Given the description of an element on the screen output the (x, y) to click on. 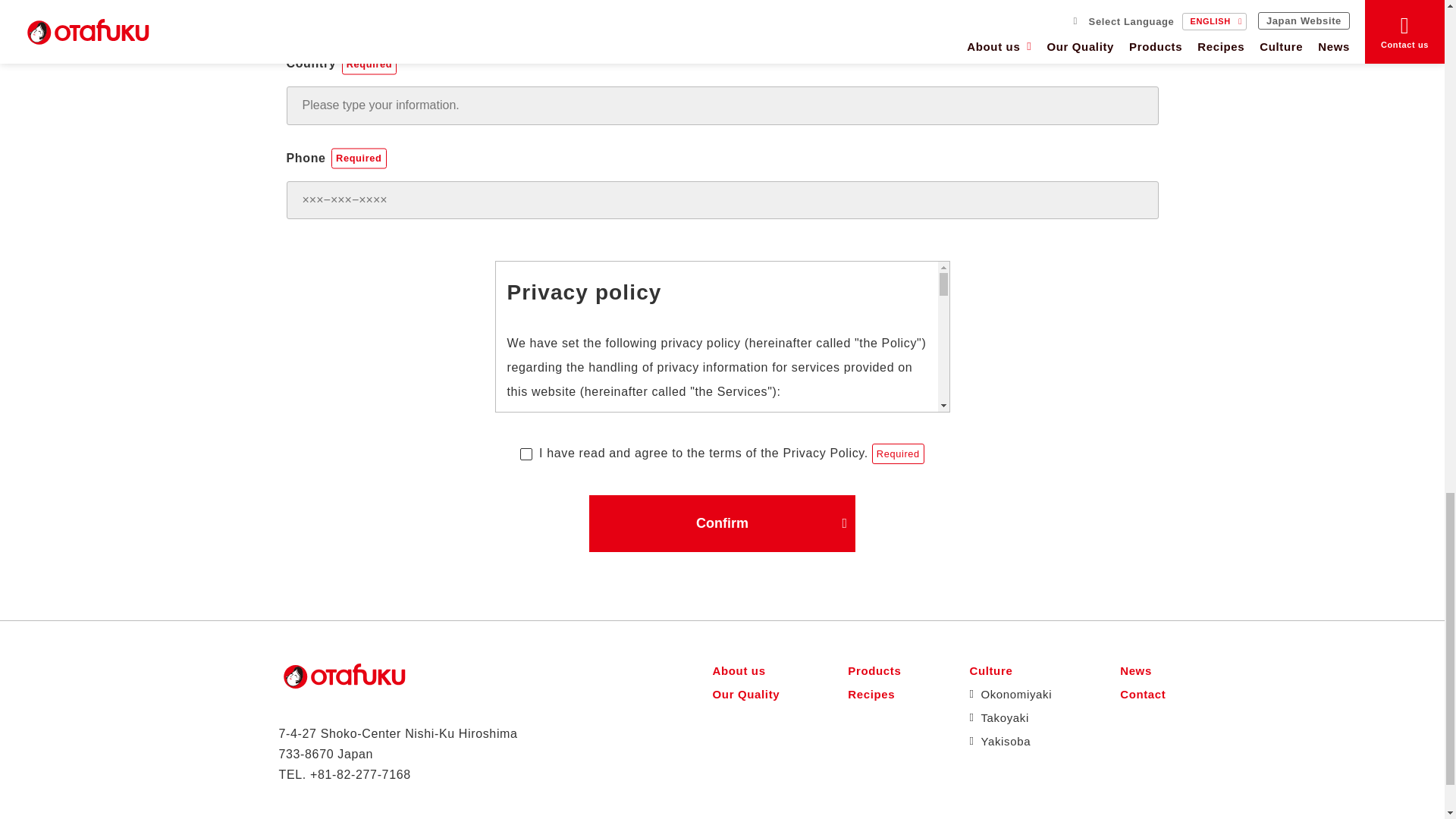
Products (874, 670)
Confirm (722, 523)
Okonomiyaki (1010, 693)
News (1142, 670)
Yakisoba (1010, 740)
Contact (1142, 693)
Takoyaki (1010, 717)
Culture (1010, 670)
Recipes (874, 693)
About us (746, 670)
